Given the description of an element on the screen output the (x, y) to click on. 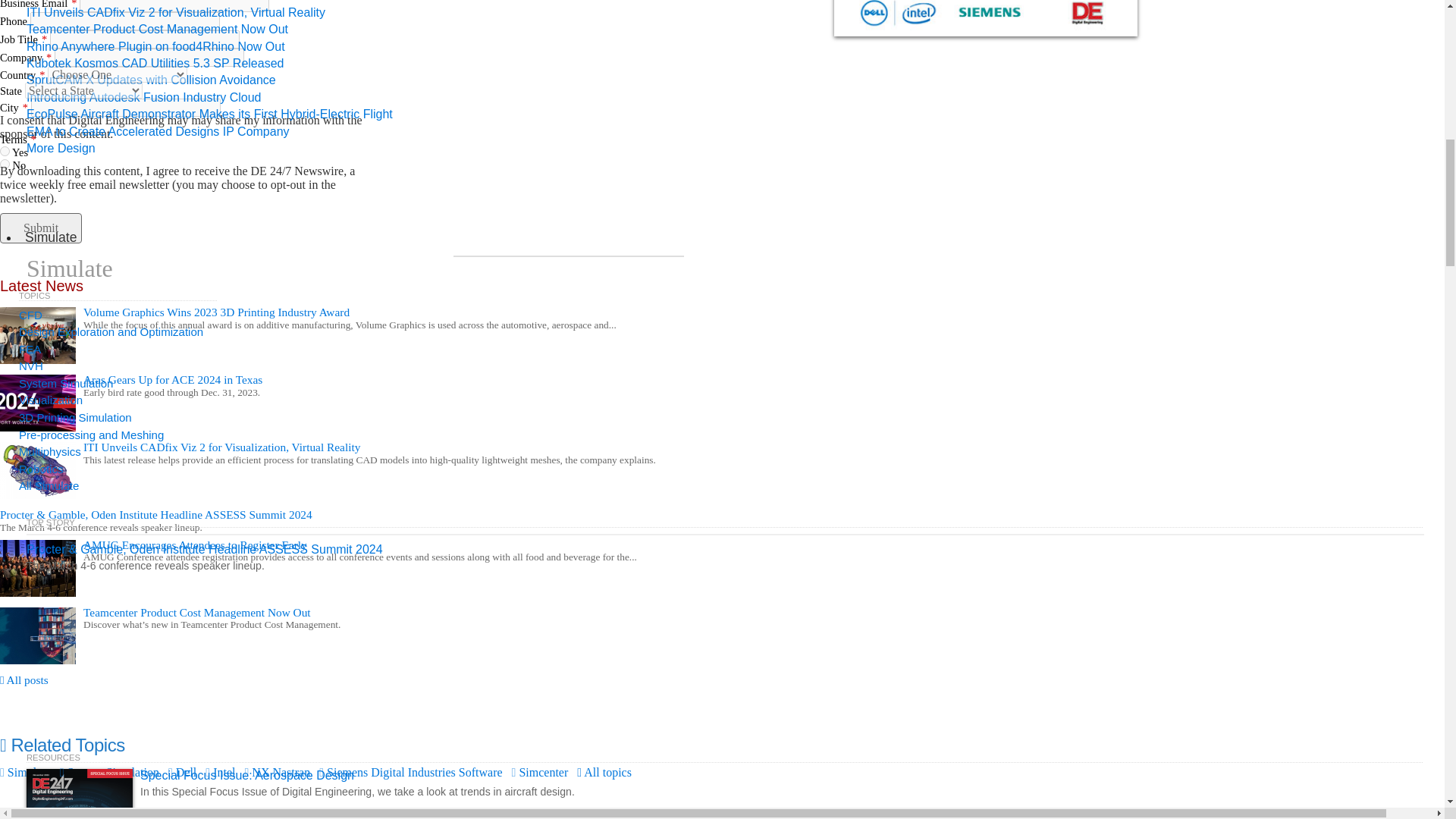
Siemens Digital Industries Software (410, 771)
Dell (182, 771)
Simcenter (540, 771)
Yes (5, 151)
No (5, 163)
Intel (219, 771)
NX Nastran (277, 771)
